Given the description of an element on the screen output the (x, y) to click on. 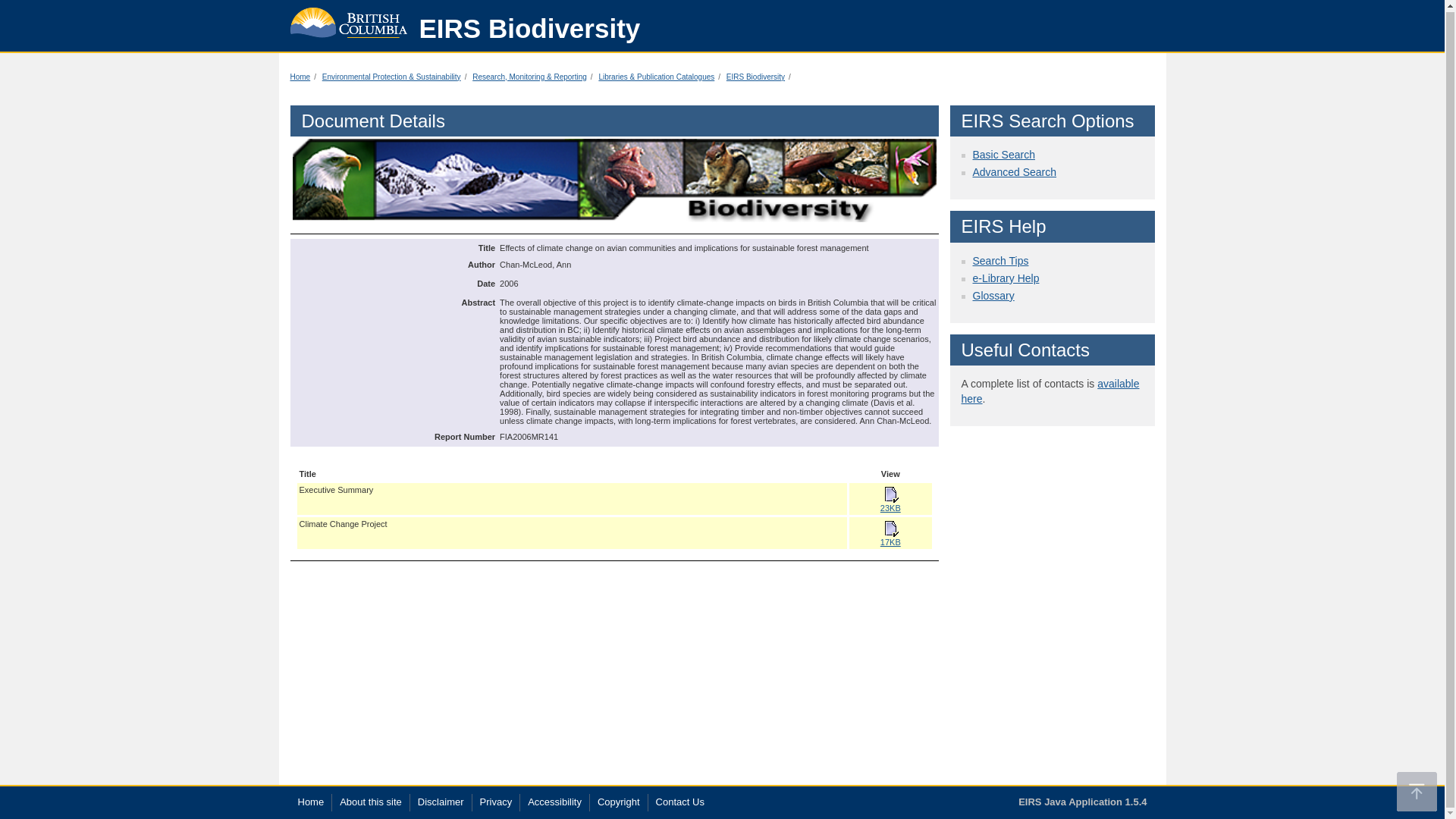
Privacy (496, 802)
Copyright (618, 802)
e-Library Help (1005, 277)
Glossary (992, 295)
Advanced Search (1014, 172)
About this site (370, 802)
Contact Us (680, 802)
23KB (890, 500)
17KB (890, 535)
Disclaimer (440, 802)
Basic Search (1002, 154)
available here (1050, 390)
Basic Search (1002, 154)
Search Tips (999, 260)
e-Library Help (1005, 277)
